Given the description of an element on the screen output the (x, y) to click on. 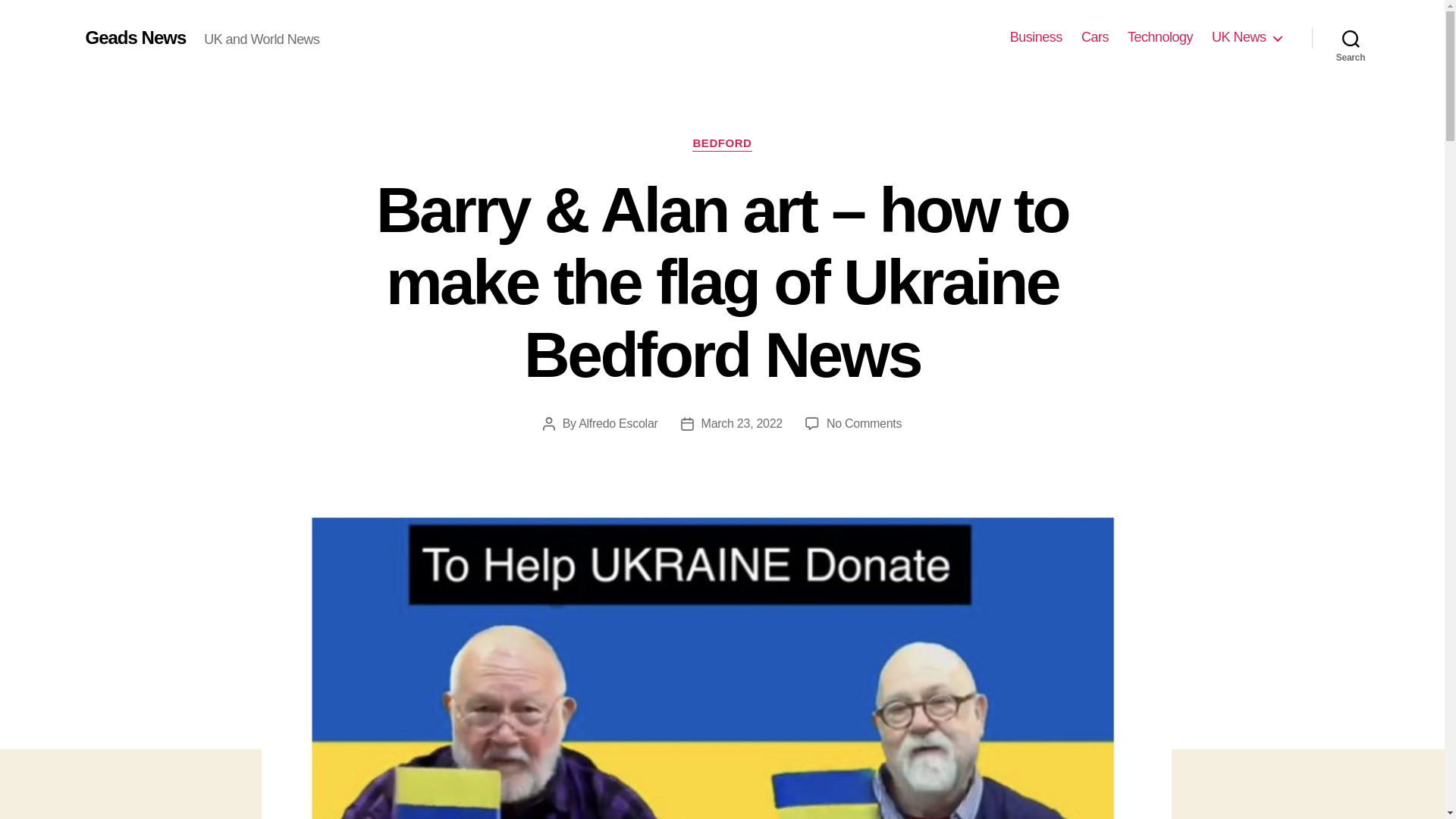
Alfredo Escolar (618, 422)
UK News (1246, 37)
Cars (1094, 37)
Technology (1159, 37)
Business (1036, 37)
Search (1350, 37)
BEDFORD (722, 143)
March 23, 2022 (742, 422)
Geads News (135, 37)
